Given the description of an element on the screen output the (x, y) to click on. 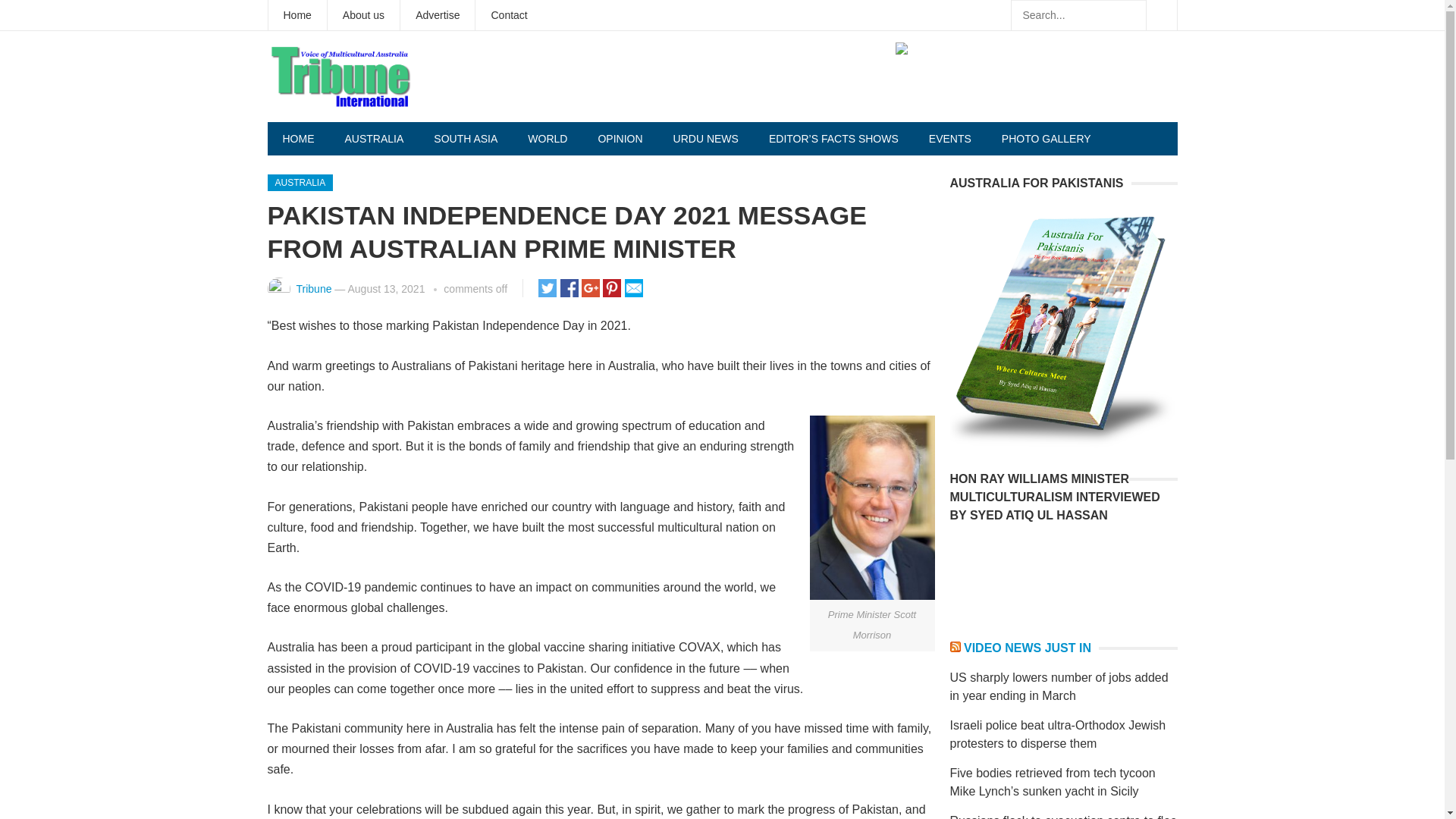
Home (296, 15)
OPINION (620, 138)
HOME (297, 138)
SOUTH ASIA (465, 138)
AUSTRALIA (374, 138)
Tribune (313, 288)
Posts by Tribune (313, 288)
URDU NEWS (706, 138)
AUSTRALIA (299, 182)
WORLD (547, 138)
